Given the description of an element on the screen output the (x, y) to click on. 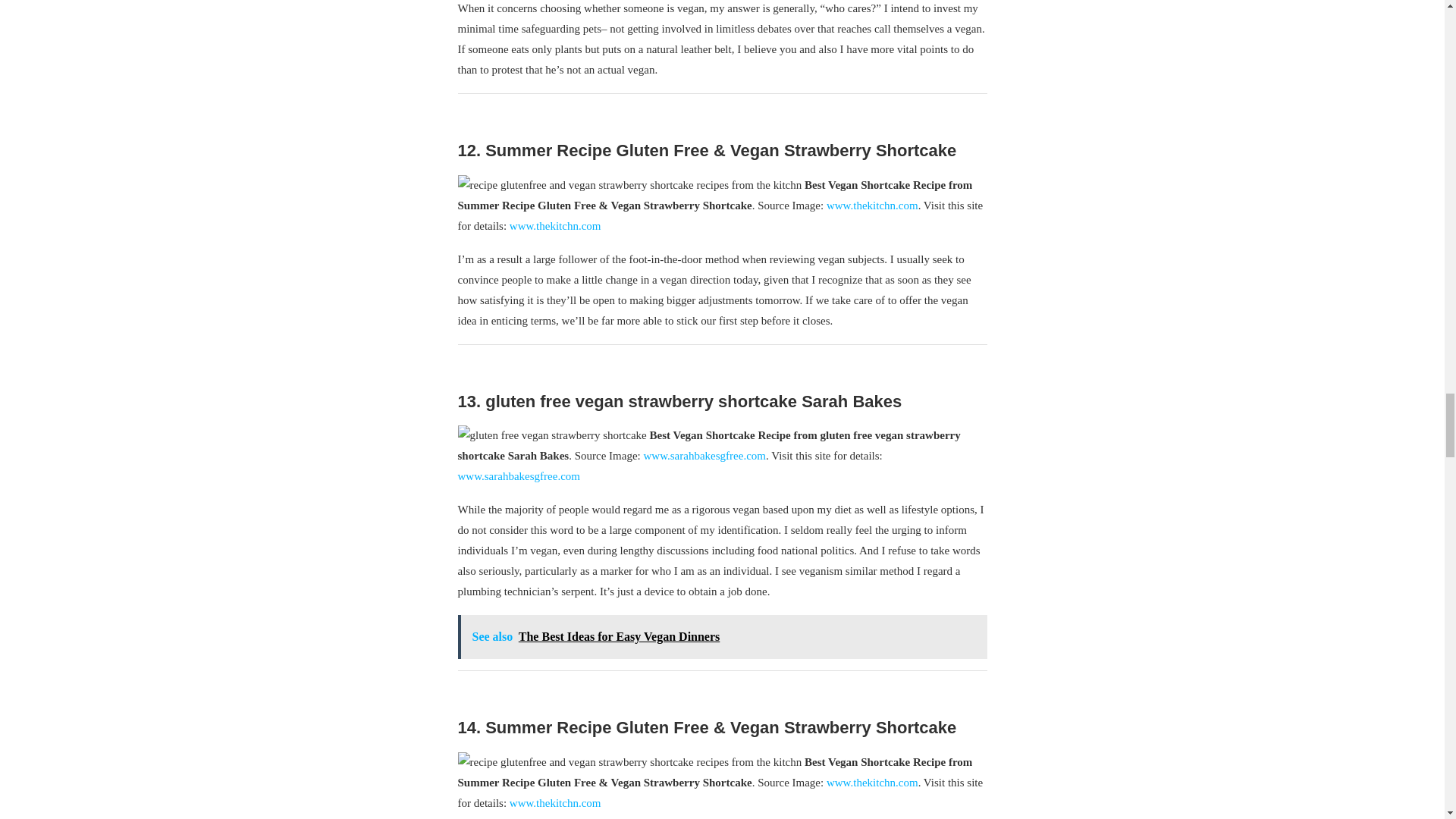
gluten free vegan strawberry shortcake (552, 435)
